Given the description of an element on the screen output the (x, y) to click on. 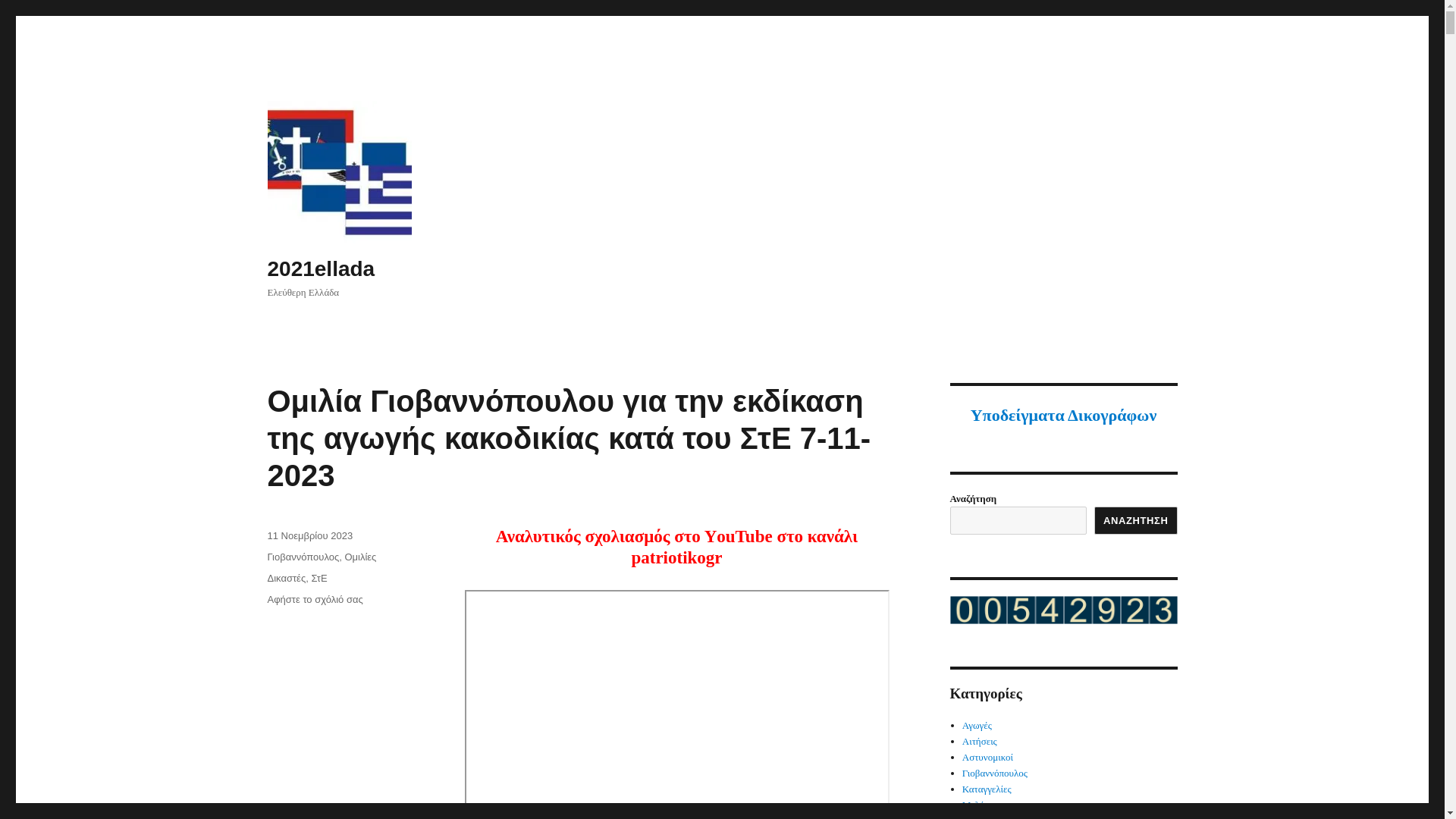
counter widget Element type: hover (1062, 610)
counter widget Element type: hover (1062, 608)
2021ellada Element type: text (320, 268)
